Given the description of an element on the screen output the (x, y) to click on. 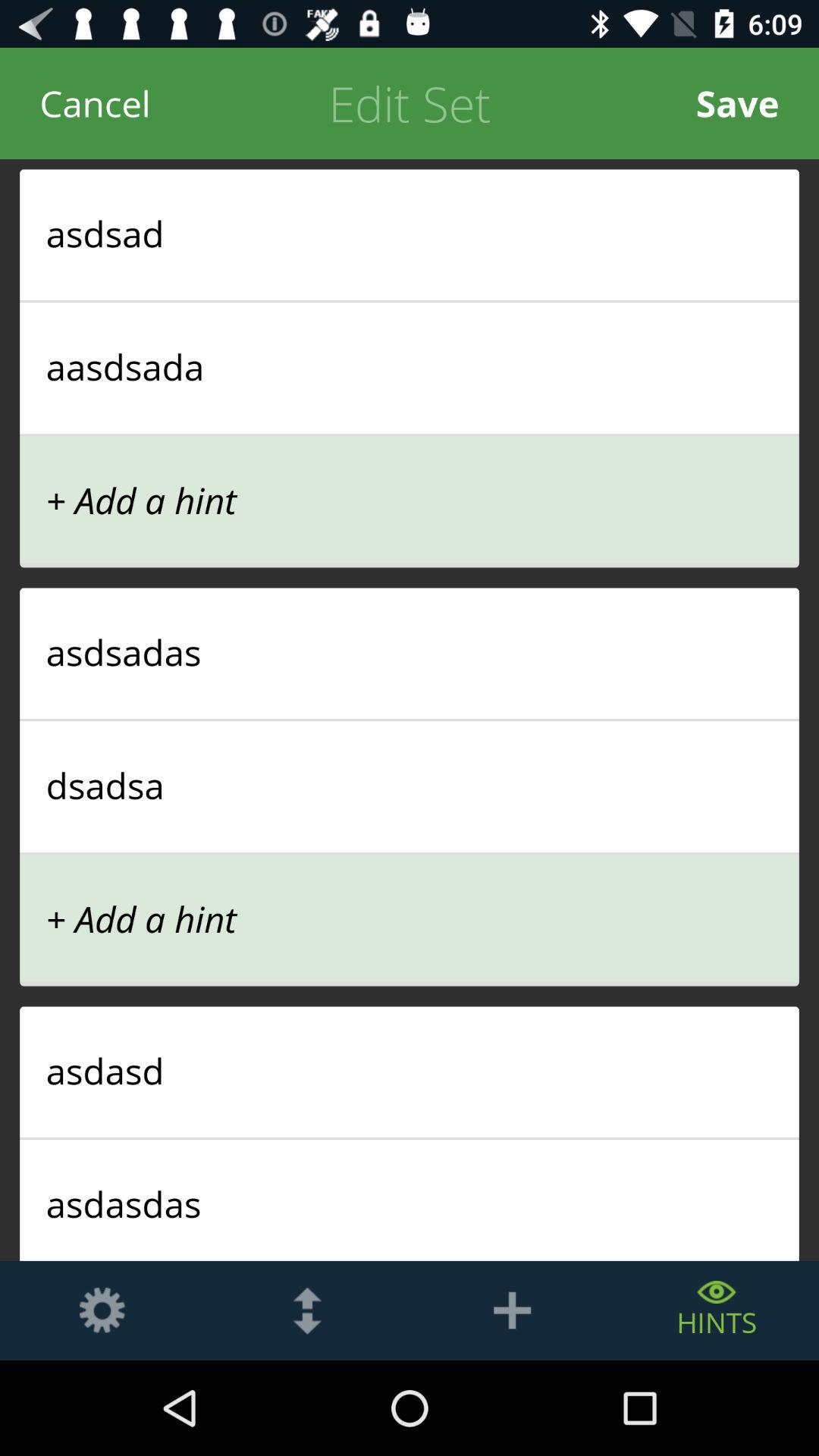
press the item above asdsad (737, 103)
